Given the description of an element on the screen output the (x, y) to click on. 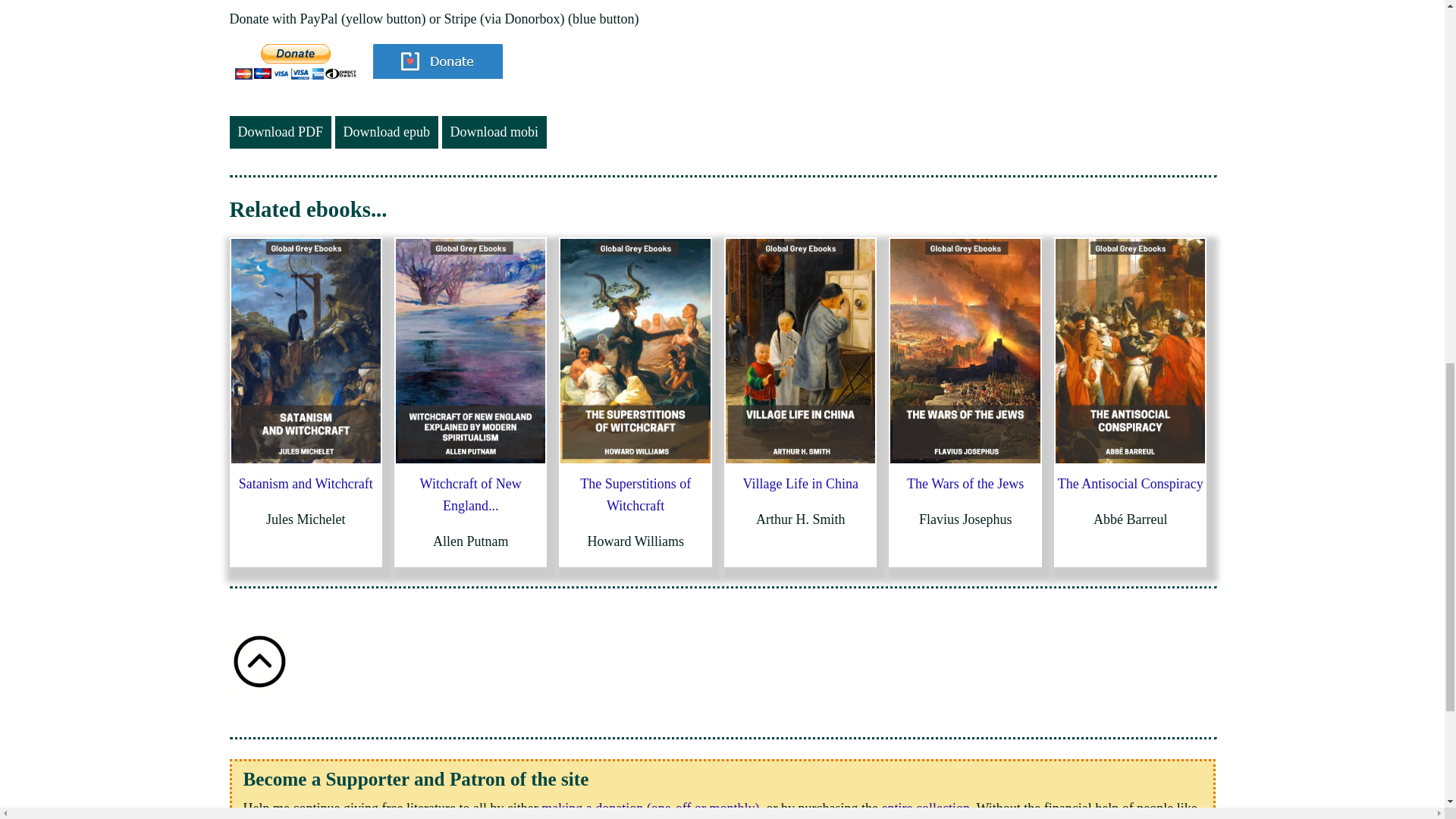
Download epub (386, 132)
Witchcraft of New England... (470, 494)
The Superstitions of Witchcraft (634, 494)
Village Life in China (800, 483)
Satanism and Witchcraft (305, 483)
Download PDF (279, 132)
Download mobi (494, 131)
The Superstitions of Witchcraft by Howard Williams (635, 351)
Download epub (386, 131)
Download PDF (279, 131)
Satanism and Witchcraft by Jules Michelet (305, 351)
Village Life in China by Arthur H. Smith (800, 351)
PayPal - The safer, easier way to pay online! (295, 61)
Download mobi (494, 132)
